Given the description of an element on the screen output the (x, y) to click on. 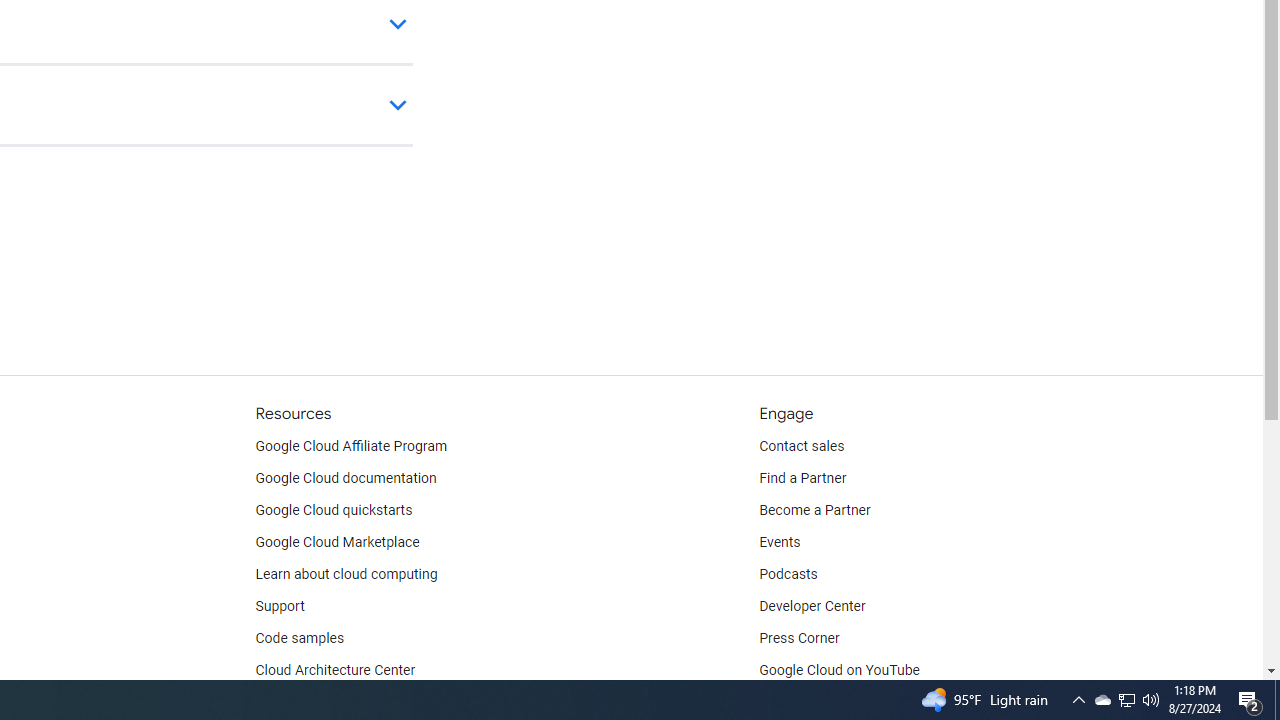
Code samples (299, 638)
Become a Partner (814, 511)
Google Cloud documentation (345, 478)
Events (780, 542)
Google Cloud Marketplace (336, 542)
Cloud Architecture Center (335, 670)
Developer Center (812, 606)
Podcasts (788, 574)
Google Cloud Affiliate Program (351, 446)
Google Cloud on YouTube (839, 670)
Support (279, 606)
Press Corner (799, 638)
Learn about cloud computing (345, 574)
Contact sales (801, 446)
